Given the description of an element on the screen output the (x, y) to click on. 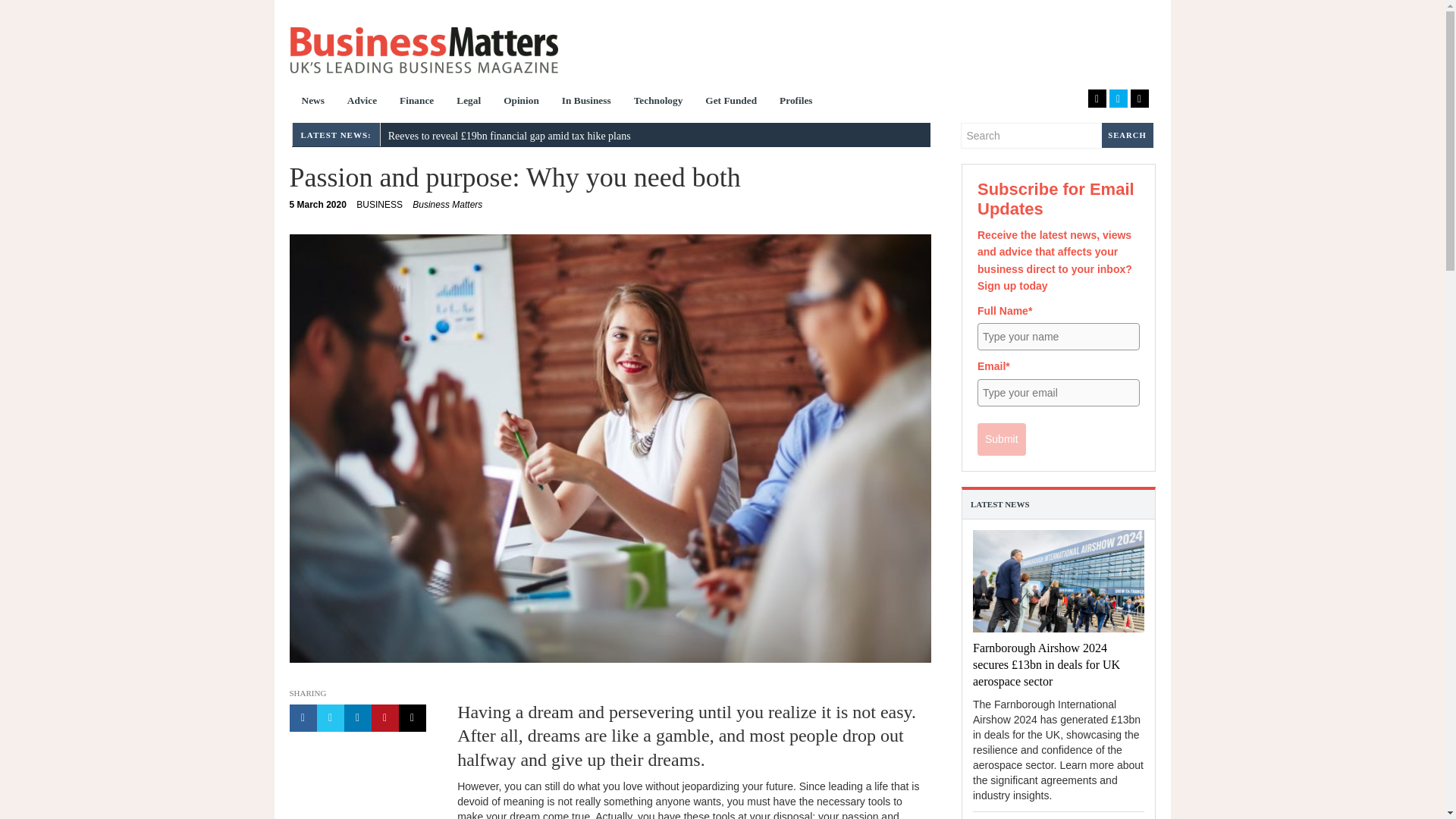
Legal (468, 101)
Advice (362, 101)
In Business (586, 101)
Opinion (521, 101)
BUSINESS (317, 204)
Finance (379, 204)
Profiles (416, 101)
Technology (796, 101)
Business Matters (658, 101)
Get Funded (446, 204)
News (731, 101)
Business Matters (311, 101)
